Given the description of an element on the screen output the (x, y) to click on. 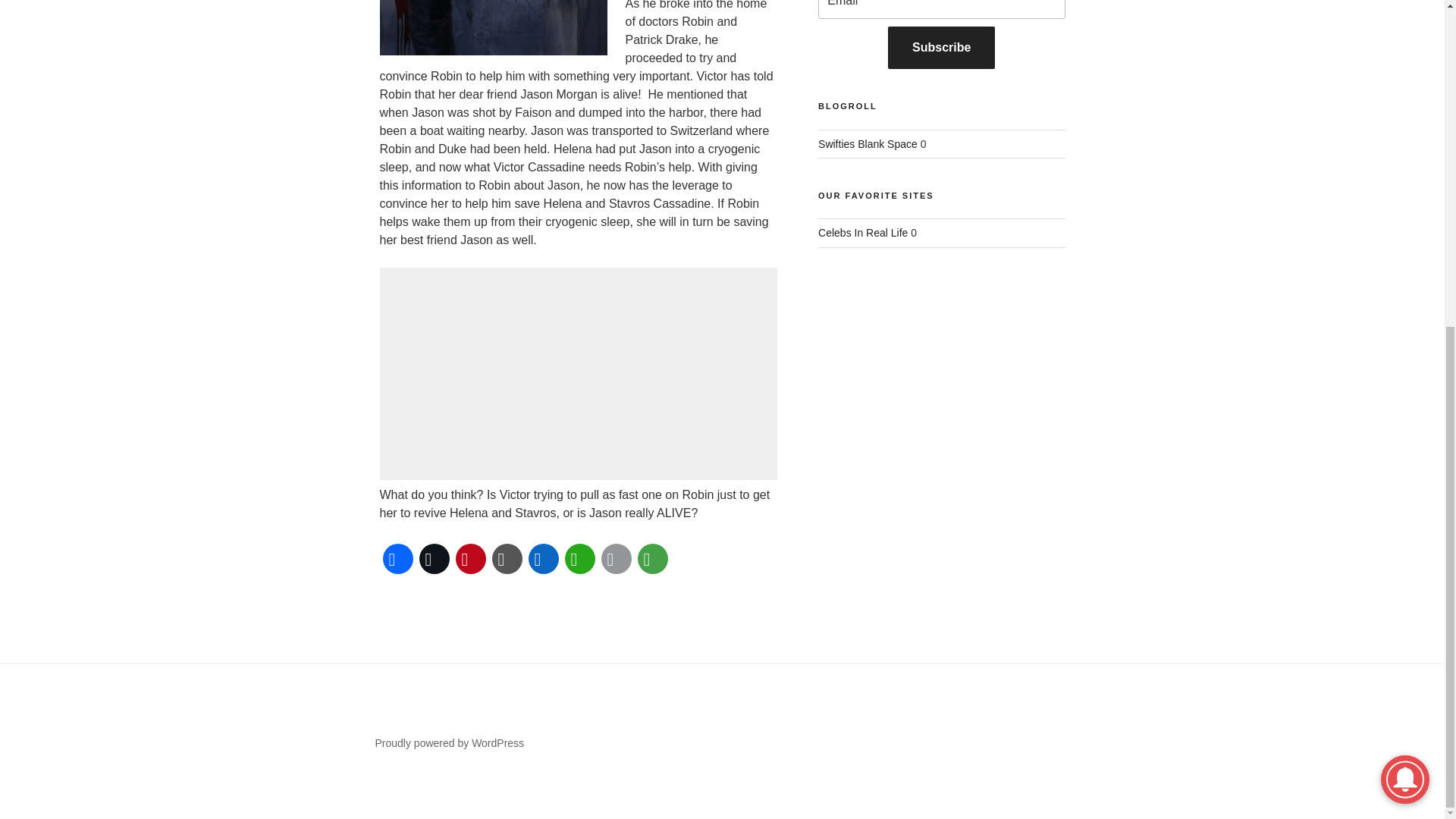
Jasonharbor (492, 27)
Subscribe (941, 47)
Email This (614, 558)
Proudly powered by WordPress (449, 743)
WhatsApp (578, 558)
LinkedIn (542, 558)
Pinterest (469, 558)
Celebs In Real Life (862, 232)
Advertisement (577, 373)
More Options (651, 558)
Facebook (396, 558)
Swifties Blank Space (867, 143)
Copy Link (505, 558)
